Given the description of an element on the screen output the (x, y) to click on. 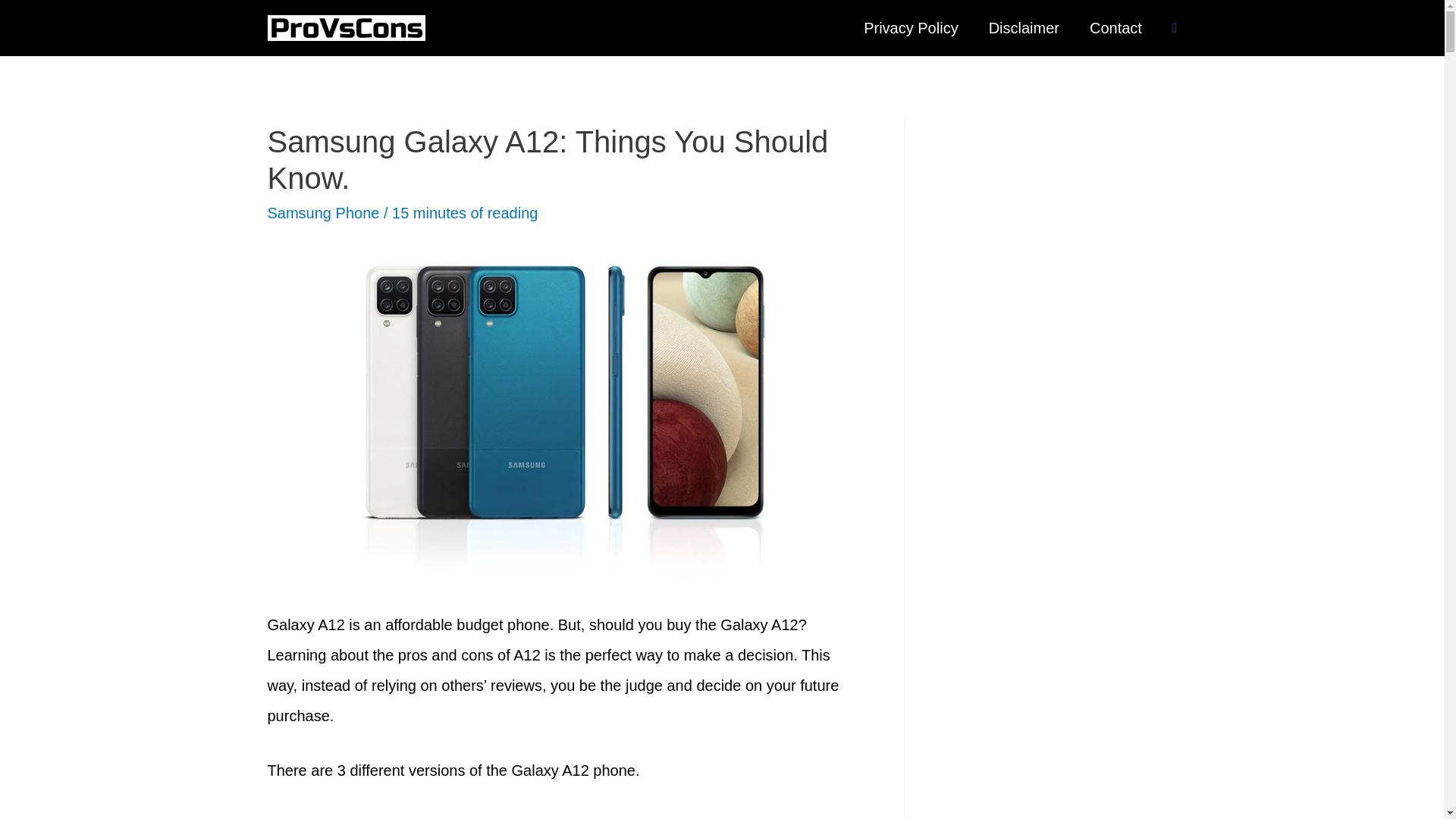
Samsung Phone (322, 212)
Contact (1115, 27)
Disclaimer (1024, 27)
Privacy Policy (910, 27)
